Given the description of an element on the screen output the (x, y) to click on. 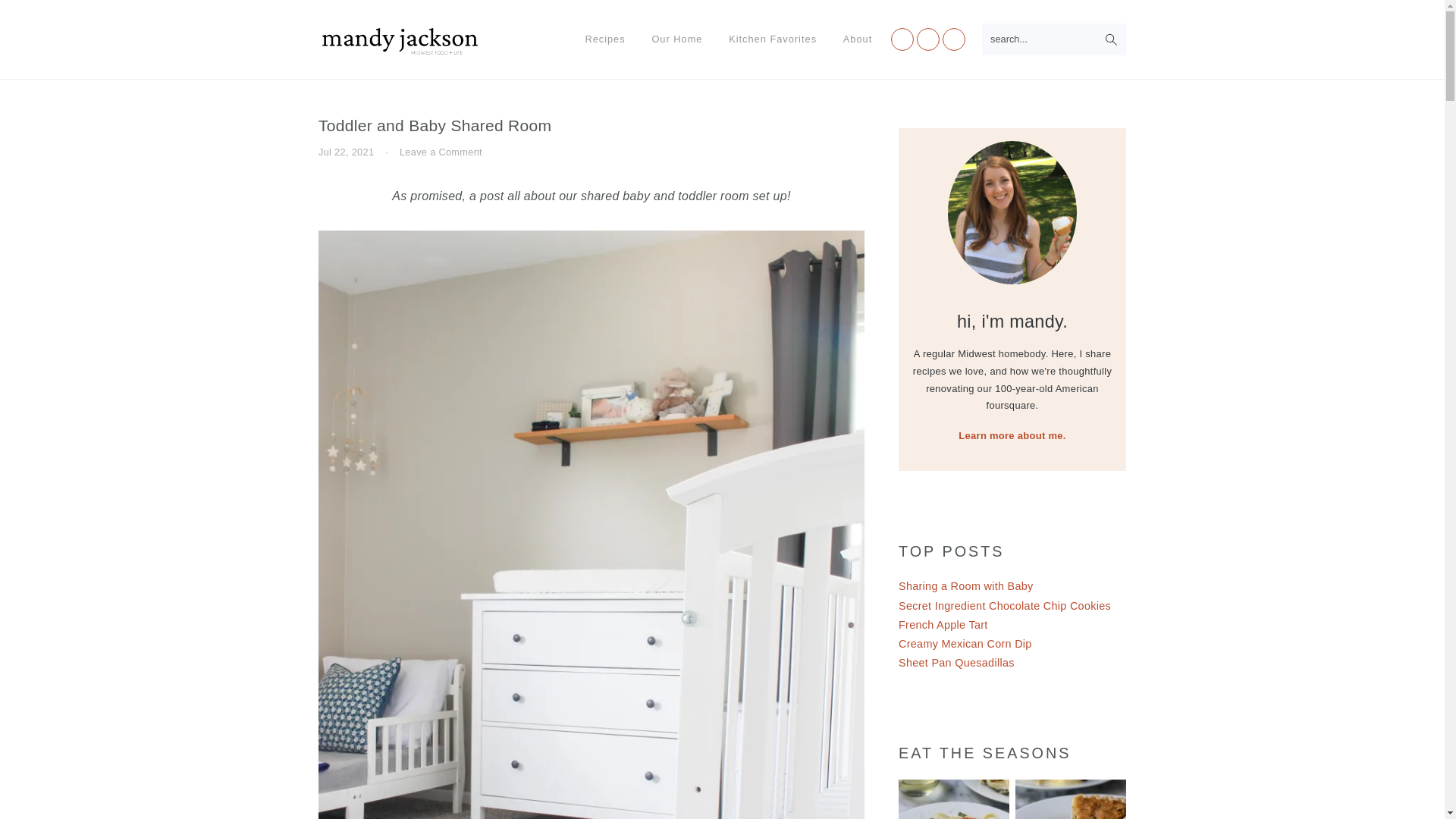
Creamy Roasted Vegetable Pasta (953, 799)
About (857, 39)
Recipes (604, 39)
Chocolate Chip Cookie Pie (1069, 799)
Mandy Jackson (399, 40)
Mandy Jackson (399, 52)
Kitchen Favorites (772, 39)
Our Home (676, 39)
Leave a Comment (439, 152)
